Given the description of an element on the screen output the (x, y) to click on. 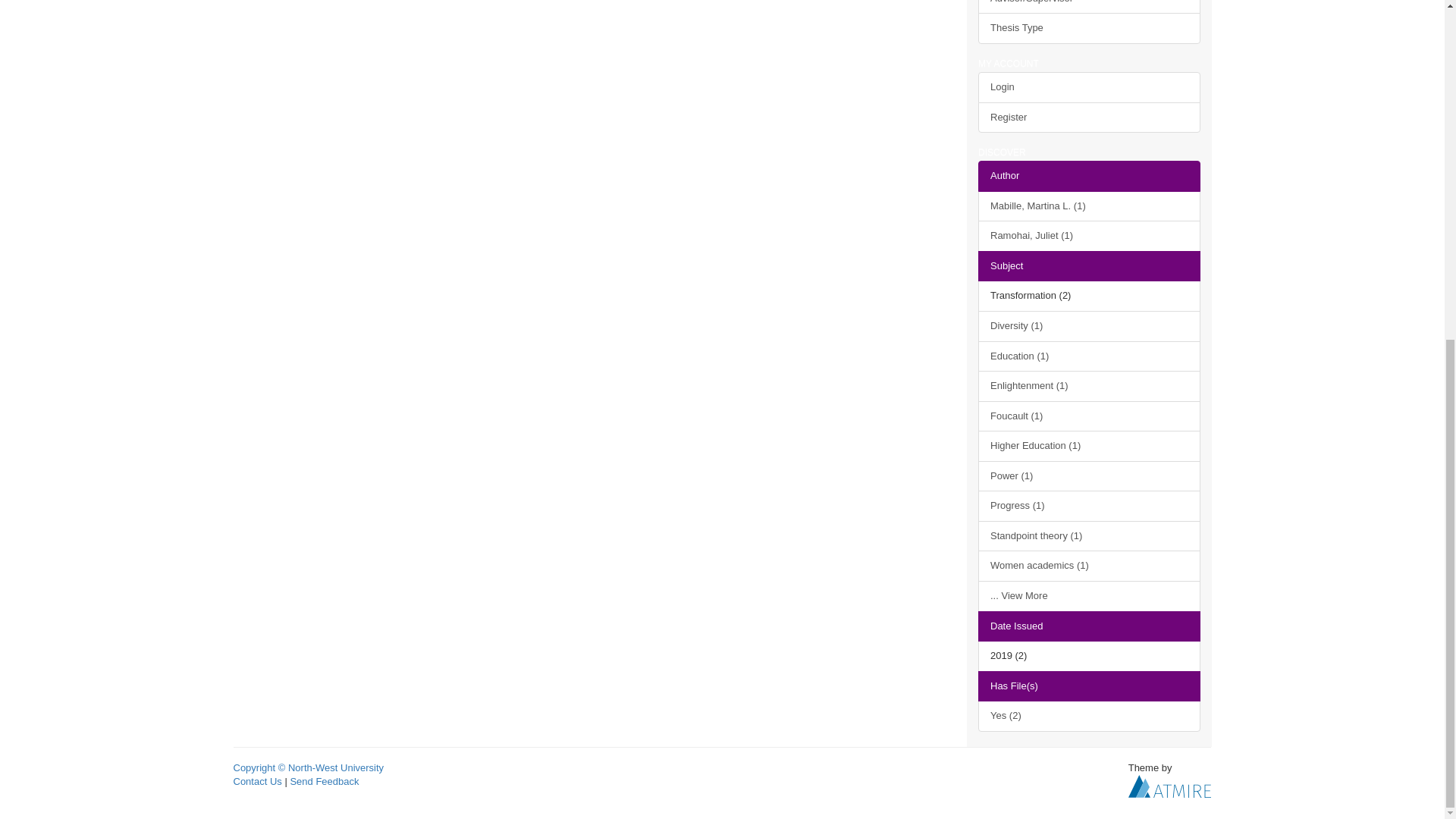
Atmire NV (1169, 785)
